Given the description of an element on the screen output the (x, y) to click on. 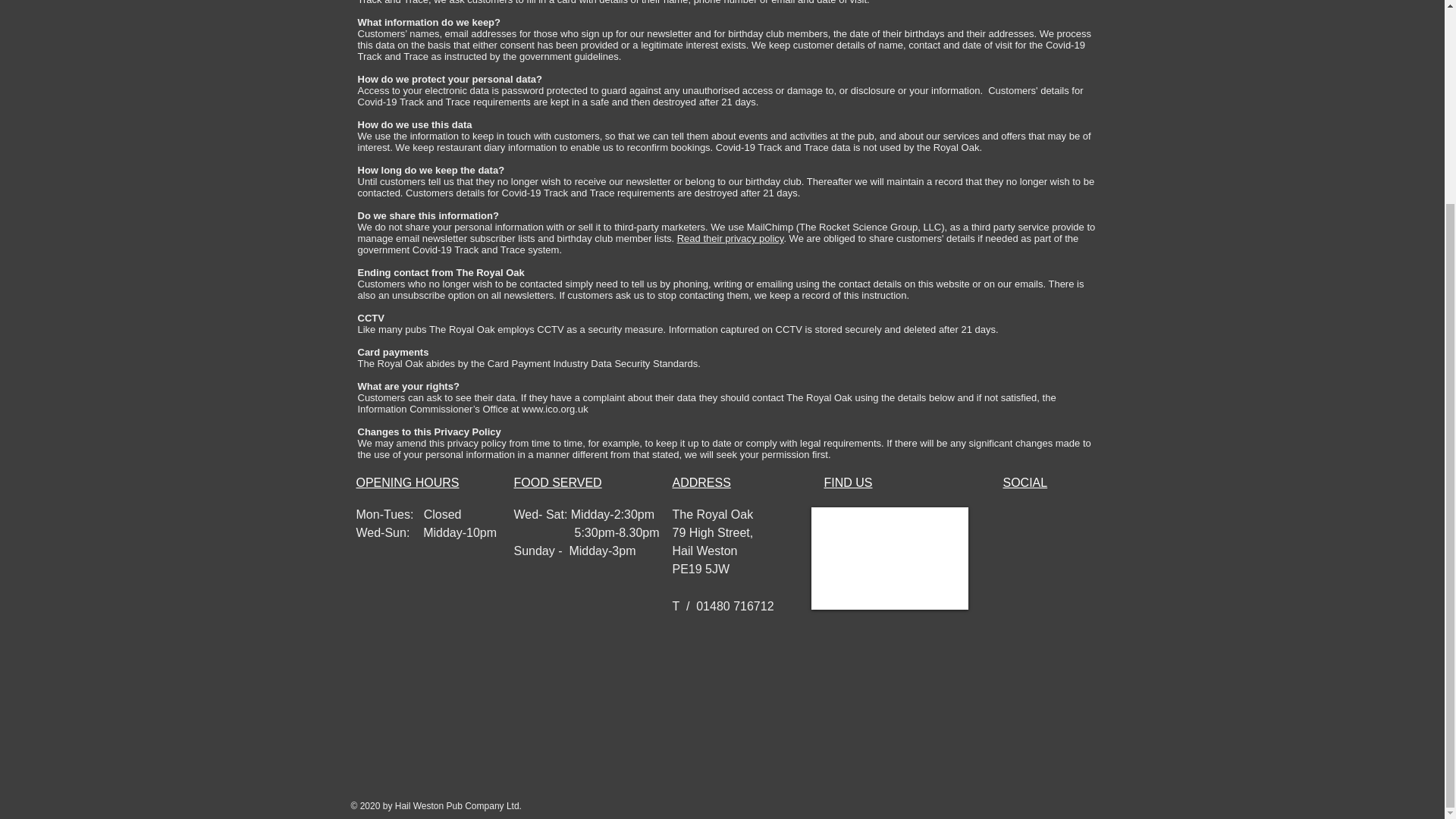
www.ico.org.uk (554, 408)
Read their privacy policy (730, 238)
